Given the description of an element on the screen output the (x, y) to click on. 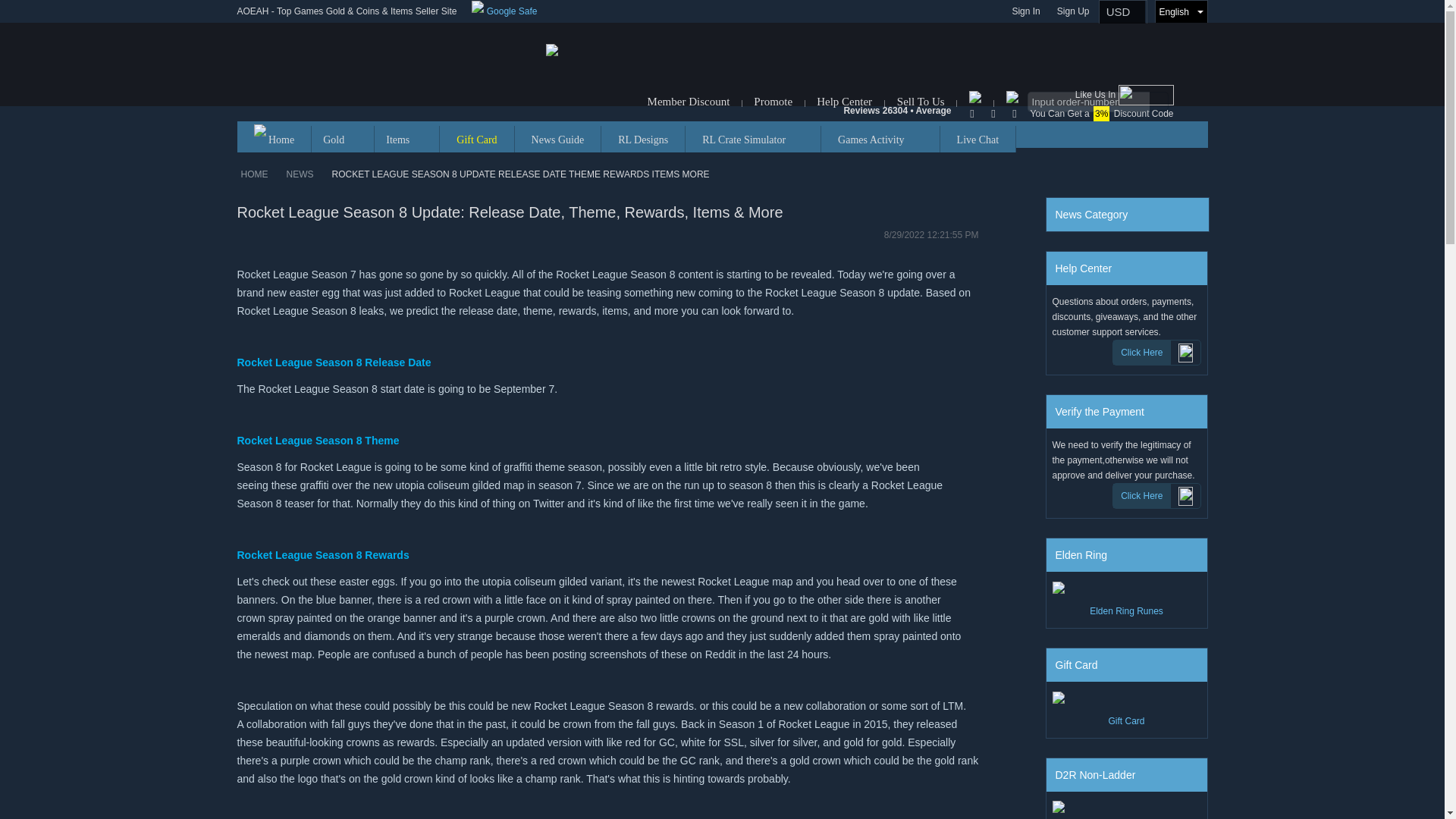
Help Center (845, 101)
 Home (273, 139)
Sign In (1025, 11)
Promote (773, 101)
Sell To Us (920, 101)
Member Discount (689, 101)
Sign Up (1073, 11)
Google Safe (504, 10)
